Given the description of an element on the screen output the (x, y) to click on. 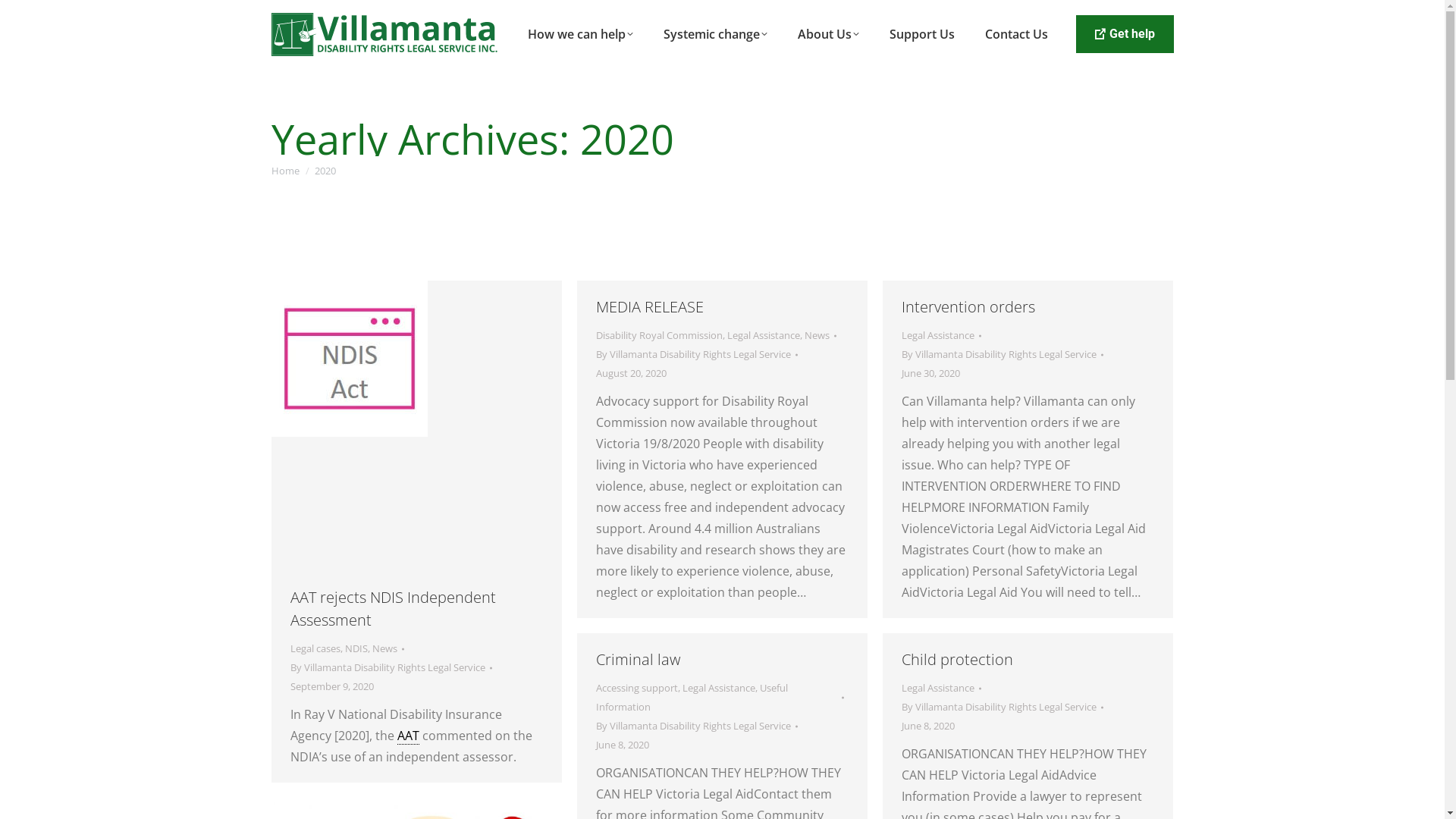
June 30, 2020 Element type: text (929, 373)
June 8, 2020 Element type: text (622, 744)
Intervention orders Element type: text (967, 306)
Legal cases Element type: text (314, 648)
Legal Assistance Element type: text (936, 335)
Legal Assistance Element type: text (718, 687)
AAT Element type: text (408, 735)
Accessing support Element type: text (636, 687)
How we can help Element type: text (580, 33)
By Villamanta Disability Rights Legal Service Element type: text (696, 354)
NDIS Act img Element type: hover (349, 358)
By Villamanta Disability Rights Legal Service Element type: text (696, 725)
Useful Information Element type: text (691, 696)
About Us Element type: text (828, 33)
Home Element type: text (285, 170)
Disability Royal Commission Element type: text (659, 335)
Support Us Element type: text (921, 33)
News Element type: text (383, 648)
Criminal law Element type: text (638, 659)
Legal Assistance Element type: text (762, 335)
By Villamanta Disability Rights Legal Service Element type: text (1001, 706)
AAT rejects NDIS Independent Assessment Element type: text (392, 608)
Get help Element type: text (1124, 34)
Legal Assistance Element type: text (936, 687)
NDIS Element type: text (355, 648)
September 9, 2020 Element type: text (331, 686)
June 8, 2020 Element type: text (926, 725)
By Villamanta Disability Rights Legal Service Element type: text (390, 667)
Contact Us Element type: text (1016, 33)
Systemic change Element type: text (715, 33)
By Villamanta Disability Rights Legal Service Element type: text (1001, 354)
Child protection Element type: text (956, 659)
August 20, 2020 Element type: text (631, 373)
MEDIA RELEASE Element type: text (649, 306)
News Element type: text (815, 335)
